Given the description of an element on the screen output the (x, y) to click on. 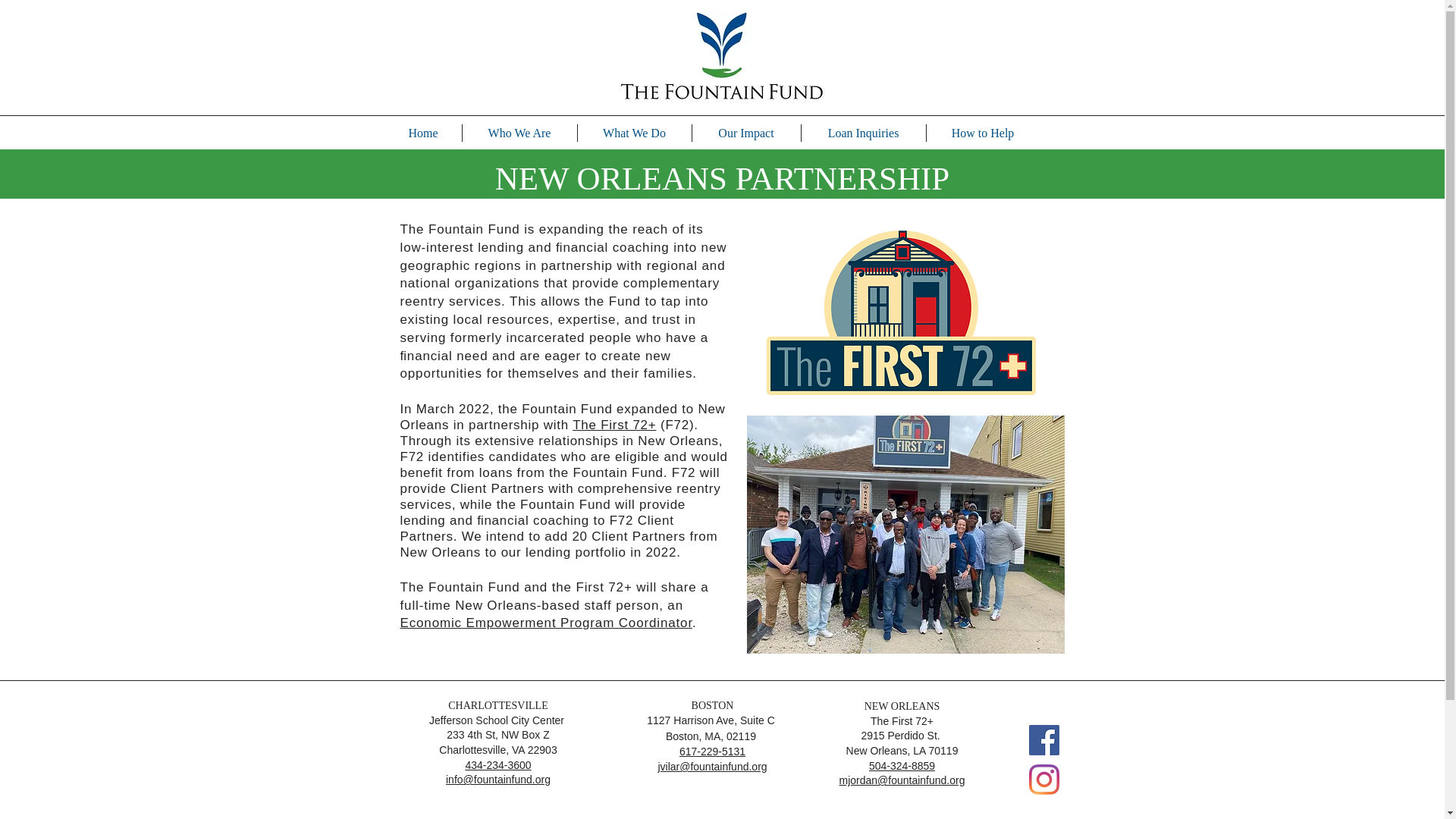
504-324-8859 (901, 766)
434-234-3600 (497, 765)
617-229-5131 (712, 751)
Loan Inquiries (862, 132)
Our Impact (745, 132)
How to Help (982, 132)
Home (423, 132)
Economic Empowerment Program Coordinator (546, 622)
Who We Are (519, 132)
What We Do (634, 132)
